Given the description of an element on the screen output the (x, y) to click on. 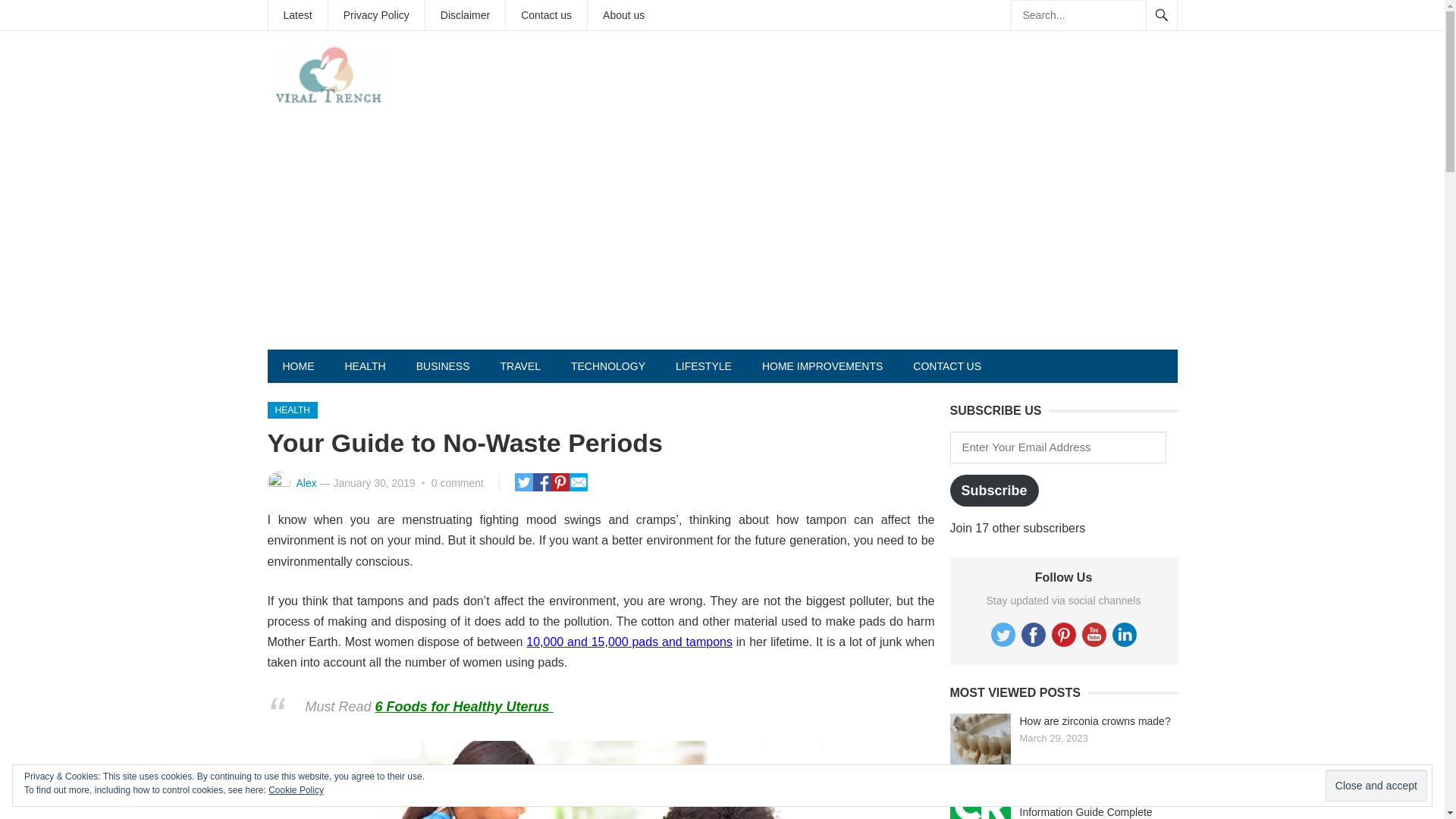
HEALTH (364, 366)
HOME (297, 366)
CONTACT US (946, 366)
Close and accept (1375, 785)
TECHNOLOGY (608, 366)
Privacy Policy (377, 15)
Contact us (545, 15)
View all posts in Health (291, 410)
LIFESTYLE (703, 366)
